Given the description of an element on the screen output the (x, y) to click on. 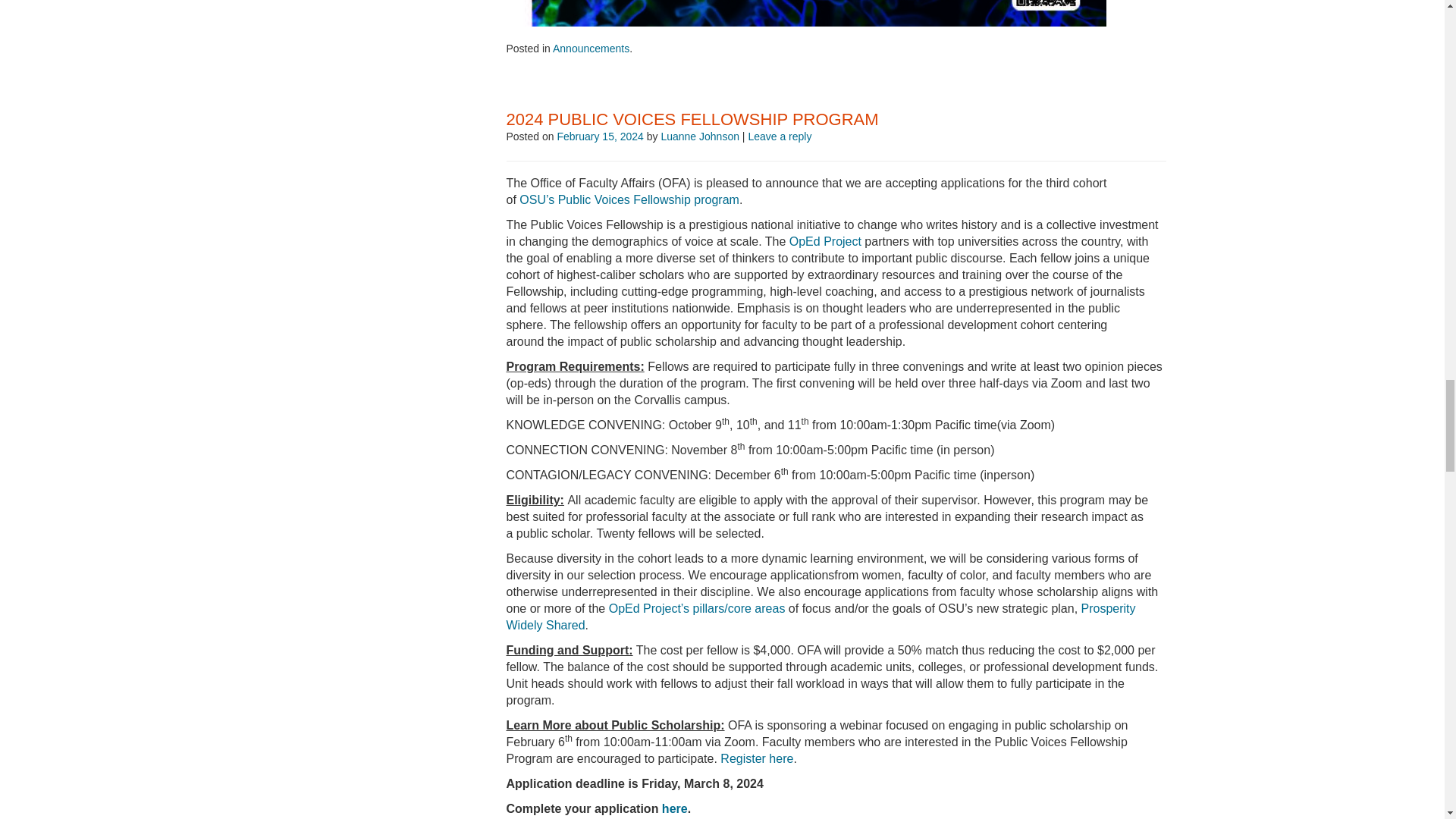
OpEd Project (825, 241)
Announcements (590, 48)
February 15, 2024 (599, 136)
Luanne Johnson (700, 136)
2024 PUBLIC VOICES FELLOWSHIP PROGRAM (692, 118)
Register here (756, 758)
Leave a reply (779, 136)
Prosperity Widely Shared (820, 616)
11:39 am (599, 136)
